Given the description of an element on the screen output the (x, y) to click on. 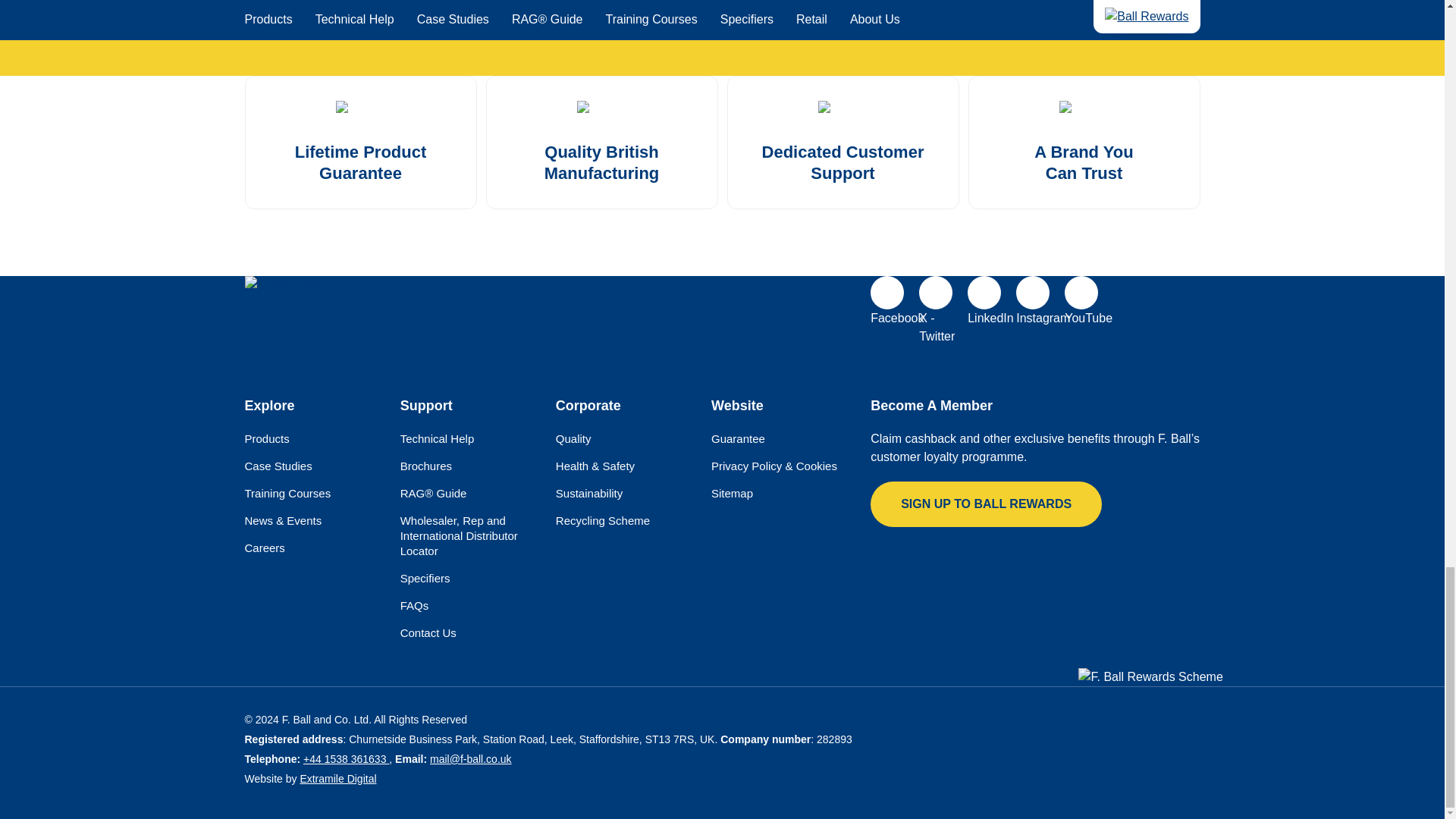
Instagram (1032, 292)
YouTube (1080, 292)
Website by Extramile Digital (337, 778)
X - Twitter (935, 292)
Facebook (887, 292)
LinkedIn (984, 292)
